Given the description of an element on the screen output the (x, y) to click on. 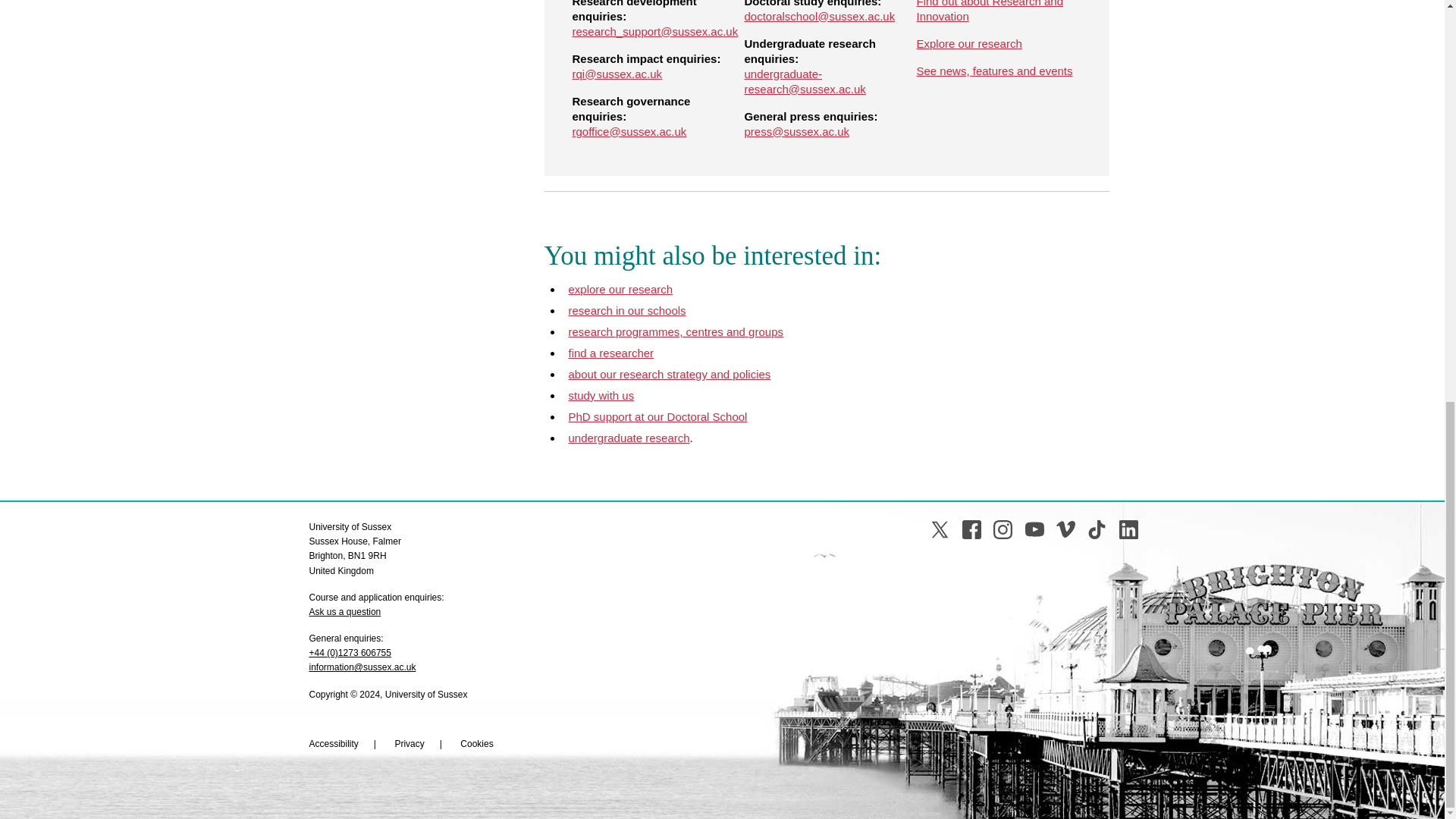
Twitter (939, 529)
Instagram (1001, 529)
YouTube (1034, 529)
Vimeo (1066, 529)
Linkedin (1128, 529)
Tiktok (1096, 529)
Facebook (971, 529)
